Given the description of an element on the screen output the (x, y) to click on. 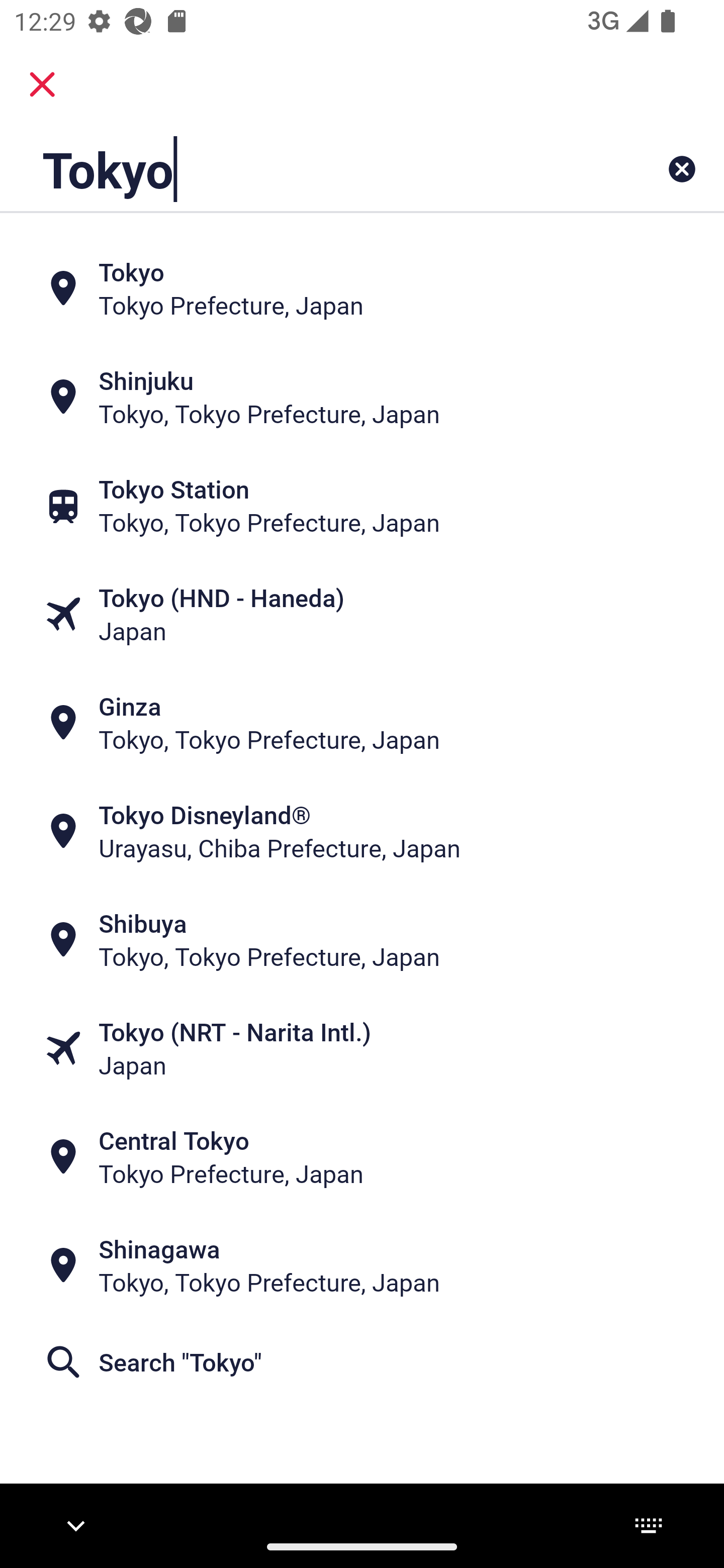
close. (42, 84)
Clear (681, 169)
Tokyo (298, 169)
Tokyo Tokyo Prefecture, Japan (362, 288)
Shinjuku Tokyo, Tokyo Prefecture, Japan (362, 397)
Tokyo Station Tokyo, Tokyo Prefecture, Japan (362, 505)
Tokyo (HND - Haneda) Japan (362, 613)
Ginza Tokyo, Tokyo Prefecture, Japan (362, 722)
Tokyo Disneyland® Urayasu, Chiba Prefecture, Japan (362, 831)
Shibuya Tokyo, Tokyo Prefecture, Japan (362, 939)
Tokyo (NRT - Narita Intl.) Japan (362, 1048)
Central Tokyo Tokyo Prefecture, Japan (362, 1156)
Shinagawa Tokyo, Tokyo Prefecture, Japan (362, 1265)
Search "Tokyo" (362, 1362)
